Given the description of an element on the screen output the (x, y) to click on. 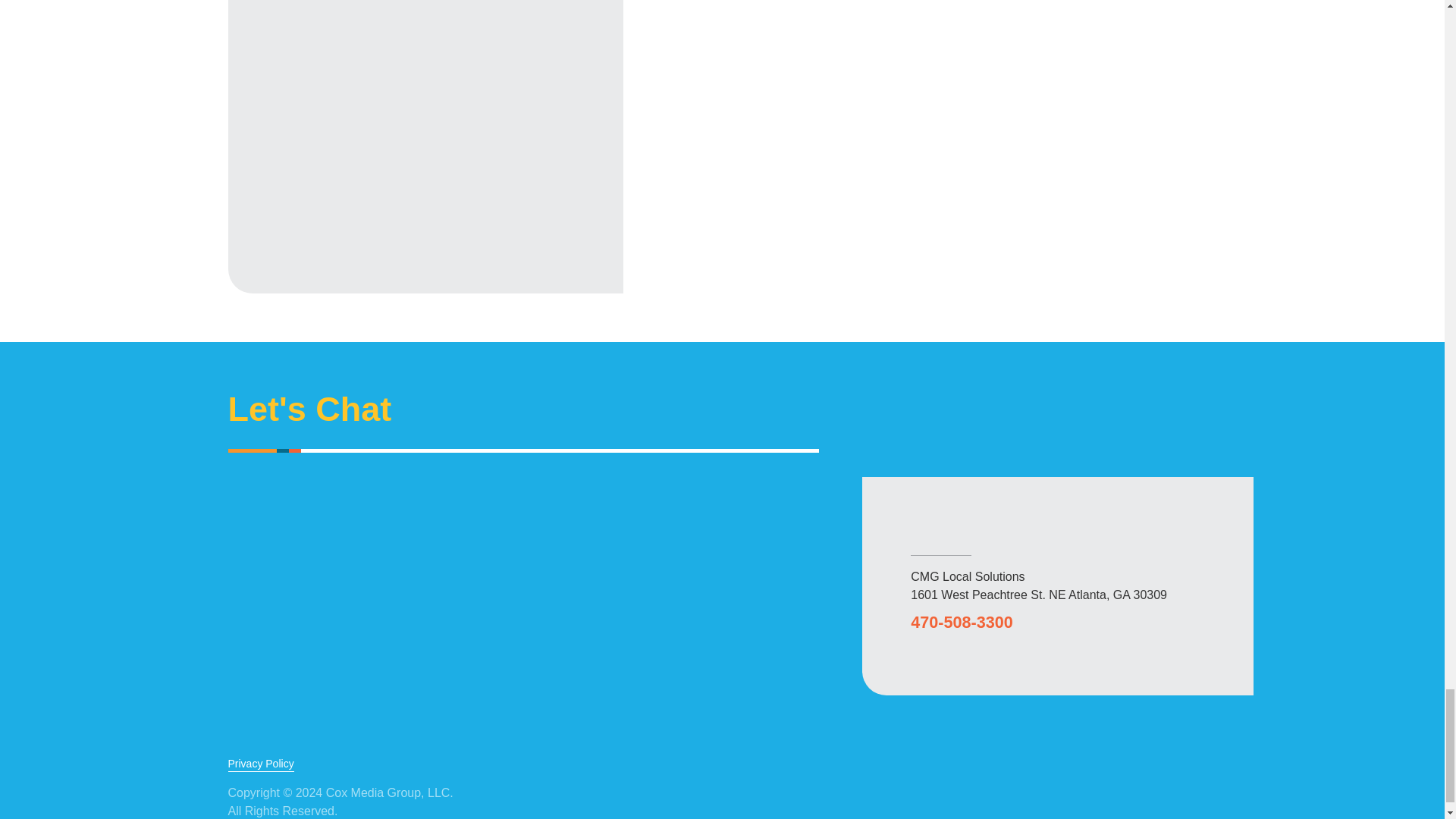
YouTube (1143, 787)
Facebook (1046, 787)
LinkedIn (1191, 787)
